Given the description of an element on the screen output the (x, y) to click on. 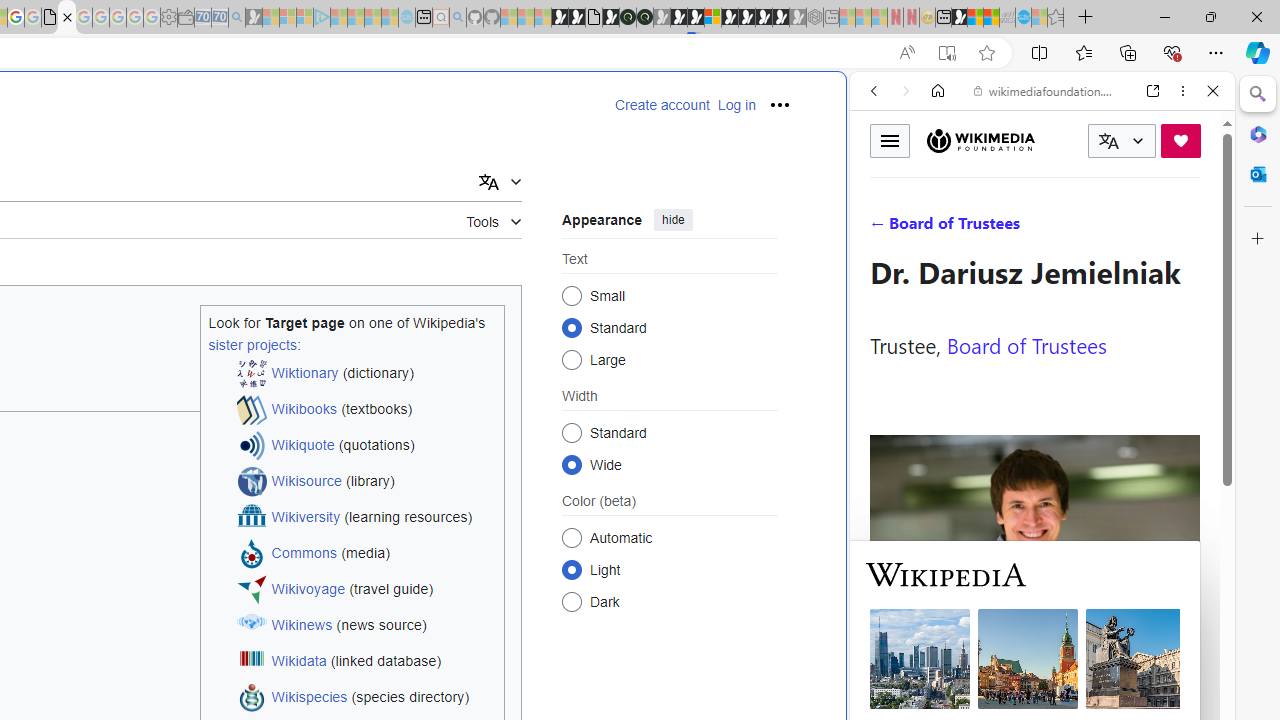
Wiktionary (dictionary) (366, 374)
Close split screen (844, 102)
Light (571, 569)
WEB   (882, 228)
Home | Sky Blue Bikes - Sky Blue Bikes - Sleeping (406, 17)
Class: b_serphb (1190, 229)
Frequently visited (418, 265)
Sign in to your account (712, 17)
